Given the description of an element on the screen output the (x, y) to click on. 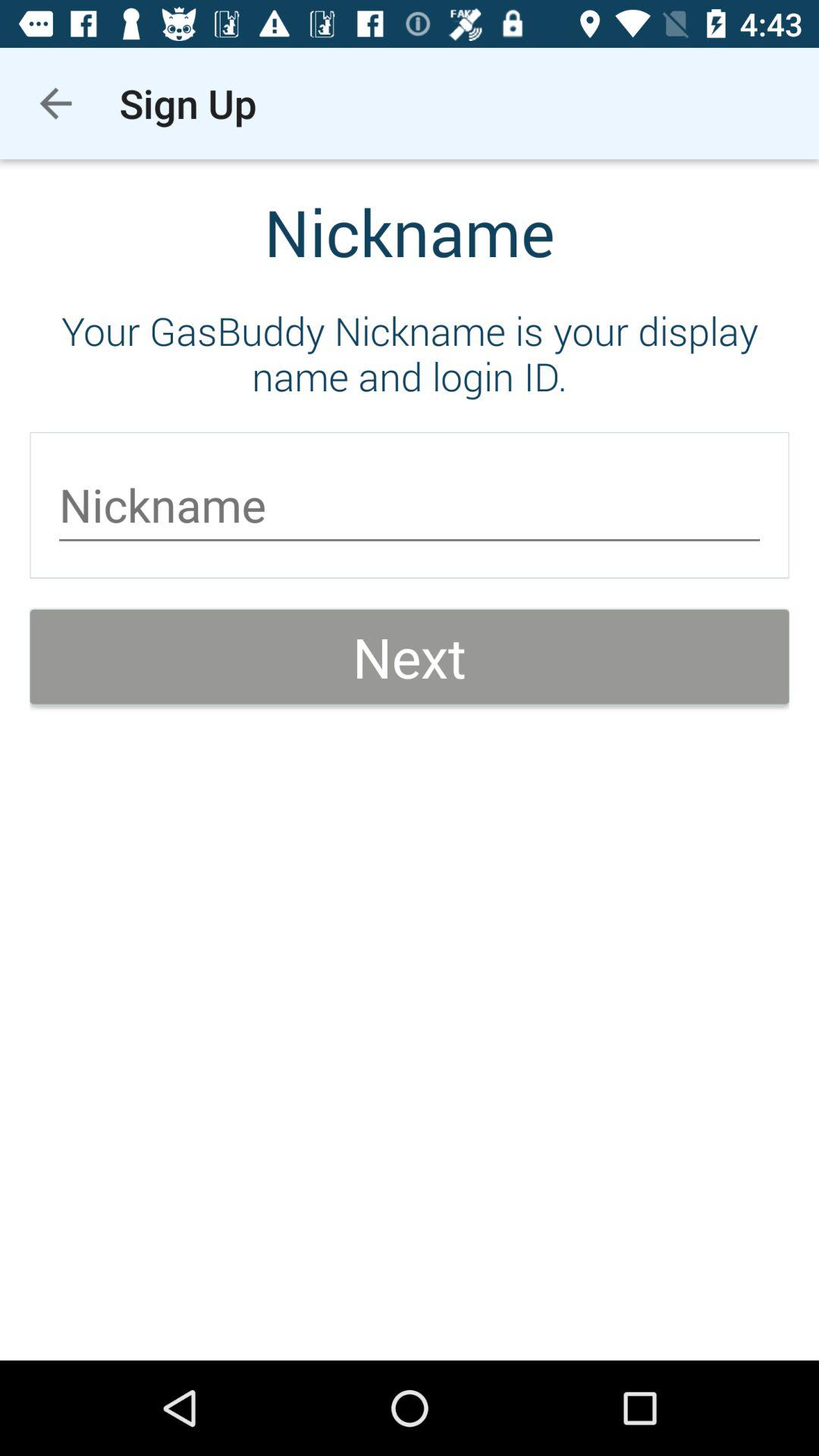
scroll until next icon (409, 656)
